Given the description of an element on the screen output the (x, y) to click on. 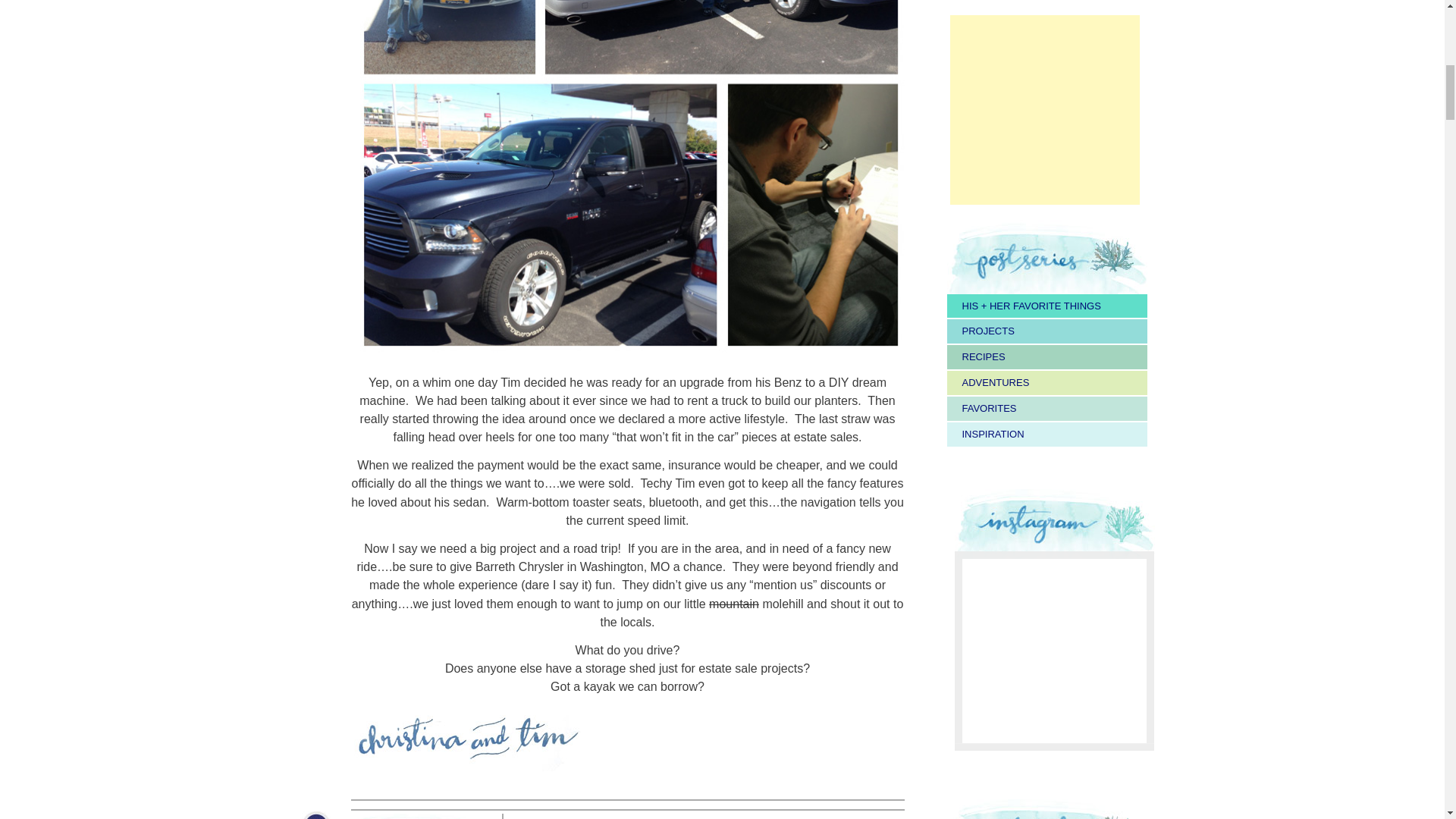
Advertisement (1043, 109)
